Given the description of an element on the screen output the (x, y) to click on. 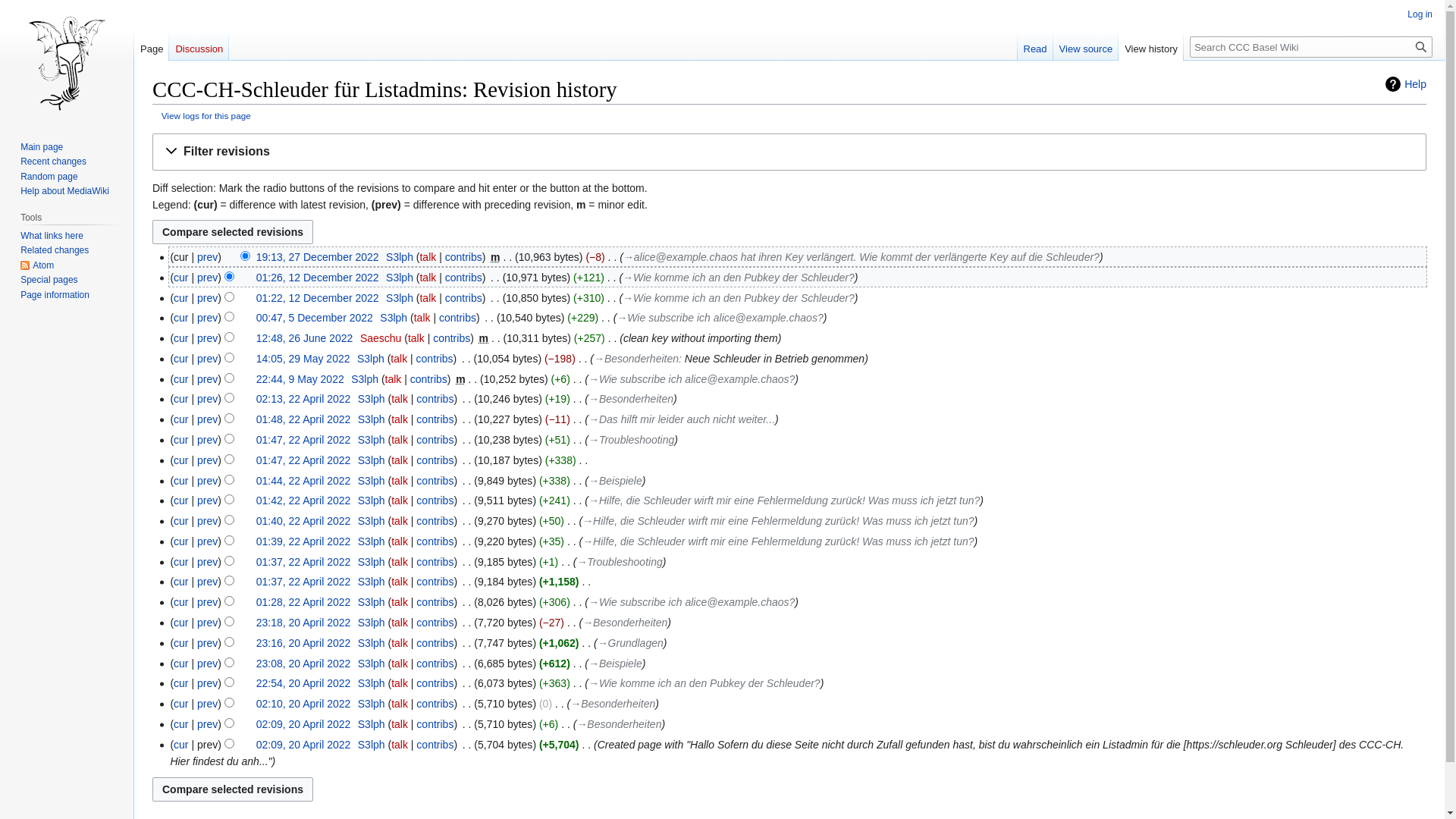
cur Element type: text (180, 338)
contribs Element type: text (434, 541)
23:16, 20 April 2022 Element type: text (303, 643)
cur Element type: text (180, 460)
contribs Element type: text (434, 561)
talk Element type: text (399, 622)
02:10, 20 April 2022 Element type: text (303, 703)
cur Element type: text (180, 602)
01:44, 22 April 2022 Element type: text (303, 480)
S3lph Element type: text (371, 724)
S3lph Element type: text (371, 663)
cur Element type: text (180, 480)
cur Element type: text (180, 520)
talk Element type: text (399, 703)
cur Element type: text (180, 500)
cur Element type: text (180, 744)
01:28, 22 April 2022 Element type: text (303, 602)
Related changes Element type: text (54, 249)
01:42, 22 April 2022 Element type: text (303, 500)
01:37, 22 April 2022 Element type: text (303, 561)
prev Element type: text (207, 419)
contribs Element type: text (428, 379)
S3lph Element type: text (371, 643)
02:13, 22 April 2022 Element type: text (303, 398)
contribs Element type: text (434, 500)
talk Element type: text (427, 257)
Page Element type: text (151, 45)
Read Element type: text (1035, 45)
cur Element type: text (180, 703)
Search CCC Basel Wiki [alt-shift-f] Element type: hover (1310, 46)
prev Element type: text (207, 703)
contribs Element type: text (434, 663)
talk Element type: text (399, 520)
S3lph Element type: text (371, 703)
01:47, 22 April 2022 Element type: text (303, 439)
prev Element type: text (207, 439)
contribs Element type: text (434, 520)
cur Element type: text (180, 317)
Visit the main page Element type: hover (66, 60)
Help about MediaWiki Element type: text (64, 190)
talk Element type: text (399, 460)
cur Element type: text (180, 541)
contribs Element type: text (434, 643)
prev Element type: text (207, 561)
S3lph Element type: text (371, 419)
talk Element type: text (399, 602)
S3lph Element type: text (371, 744)
01:39, 22 April 2022 Element type: text (303, 541)
View logs for this page Element type: text (206, 115)
S3lph Element type: text (371, 541)
cur Element type: text (180, 277)
prev Element type: text (207, 297)
S3lph Element type: text (371, 520)
S3lph Element type: text (371, 460)
S3lph Element type: text (364, 379)
cur Element type: text (180, 622)
talk Element type: text (415, 338)
01:47, 22 April 2022 Element type: text (303, 460)
prev Element type: text (207, 500)
prev Element type: text (207, 520)
talk Element type: text (427, 297)
Recent changes Element type: text (53, 161)
prev Element type: text (207, 317)
prev Element type: text (207, 622)
23:18, 20 April 2022 Element type: text (303, 622)
Search the pages for this text Element type: hover (1420, 46)
talk Element type: text (422, 317)
contribs Element type: text (434, 419)
01:22, 12 December 2022 Element type: text (317, 297)
contribs Element type: text (434, 724)
14:05, 29 May 2022 Element type: text (303, 358)
cur Element type: text (180, 643)
Discussion Element type: text (199, 45)
Atom Element type: text (36, 265)
contribs Element type: text (434, 439)
Random page Element type: text (48, 176)
talk Element type: text (399, 541)
S3lph Element type: text (371, 439)
01:26, 12 December 2022 Element type: text (317, 277)
S3lph Element type: text (371, 500)
prev Element type: text (207, 358)
S3lph Element type: text (371, 398)
01:40, 22 April 2022 Element type: text (303, 520)
talk Element type: text (399, 480)
prev Element type: text (207, 277)
talk Element type: text (399, 724)
prev Element type: text (207, 379)
prev Element type: text (207, 602)
S3lph Element type: text (371, 622)
01:48, 22 April 2022 Element type: text (303, 419)
S3lph Element type: text (371, 683)
contribs Element type: text (434, 622)
cur Element type: text (180, 297)
talk Element type: text (399, 581)
contribs Element type: text (434, 398)
contribs Element type: text (434, 480)
contribs Element type: text (434, 602)
prev Element type: text (207, 724)
prev Element type: text (207, 257)
Main page Element type: text (41, 146)
contribs Element type: text (463, 257)
prev Element type: text (207, 541)
contribs Element type: text (457, 317)
S3lph Element type: text (371, 561)
contribs Element type: text (463, 297)
19:13, 27 December 2022 Element type: text (317, 257)
talk Element type: text (399, 643)
prev Element type: text (207, 581)
talk Element type: text (399, 561)
prev Element type: text (207, 643)
Compare selected revisions Element type: text (232, 789)
01:37, 22 April 2022 Element type: text (303, 581)
contribs Element type: text (434, 683)
cur Element type: text (180, 398)
prev Element type: text (207, 480)
talk Element type: text (399, 683)
02:09, 20 April 2022 Element type: text (303, 724)
S3lph Element type: text (370, 358)
talk Element type: text (399, 663)
S3lph Element type: text (393, 317)
contribs Element type: text (434, 581)
S3lph Element type: text (371, 581)
cur Element type: text (180, 581)
cur Element type: text (180, 439)
contribs Element type: text (434, 358)
contribs Element type: text (434, 703)
cur Element type: text (180, 663)
Jump to navigation Element type: text (151, 132)
contribs Element type: text (463, 277)
02:09, 20 April 2022 Element type: text (303, 744)
cur Element type: text (180, 683)
cur Element type: text (180, 561)
00:47, 5 December 2022 Element type: text (314, 317)
S3lph Element type: text (371, 480)
22:54, 20 April 2022 Element type: text (303, 683)
prev Element type: text (207, 663)
talk Element type: text (393, 379)
contribs Element type: text (434, 460)
talk Element type: text (399, 744)
cur Element type: text (180, 724)
prev Element type: text (207, 683)
prev Element type: text (207, 338)
Page information Element type: text (54, 294)
cur Element type: text (180, 379)
23:08, 20 April 2022 Element type: text (303, 663)
talk Element type: text (399, 500)
talk Element type: text (399, 398)
Compare selected revisions Element type: text (232, 231)
Help Element type: text (1405, 83)
Saeschu Element type: text (380, 338)
cur Element type: text (180, 419)
Log in Element type: text (1419, 14)
talk Element type: text (399, 439)
S3lph Element type: text (399, 297)
talk Element type: text (427, 277)
cur Element type: text (180, 358)
S3lph Element type: text (371, 602)
talk Element type: text (399, 419)
View source Element type: text (1086, 45)
12:48, 26 June 2022 Element type: text (304, 338)
Search Element type: text (1420, 46)
S3lph Element type: text (399, 277)
What links here Element type: text (51, 235)
contribs Element type: text (434, 744)
S3lph Element type: text (399, 257)
prev Element type: text (207, 460)
prev Element type: text (207, 398)
contribs Element type: text (451, 338)
Special pages Element type: text (48, 279)
talk Element type: text (398, 358)
22:44, 9 May 2022 Element type: text (300, 379)
View history Element type: text (1150, 45)
